Given the description of an element on the screen output the (x, y) to click on. 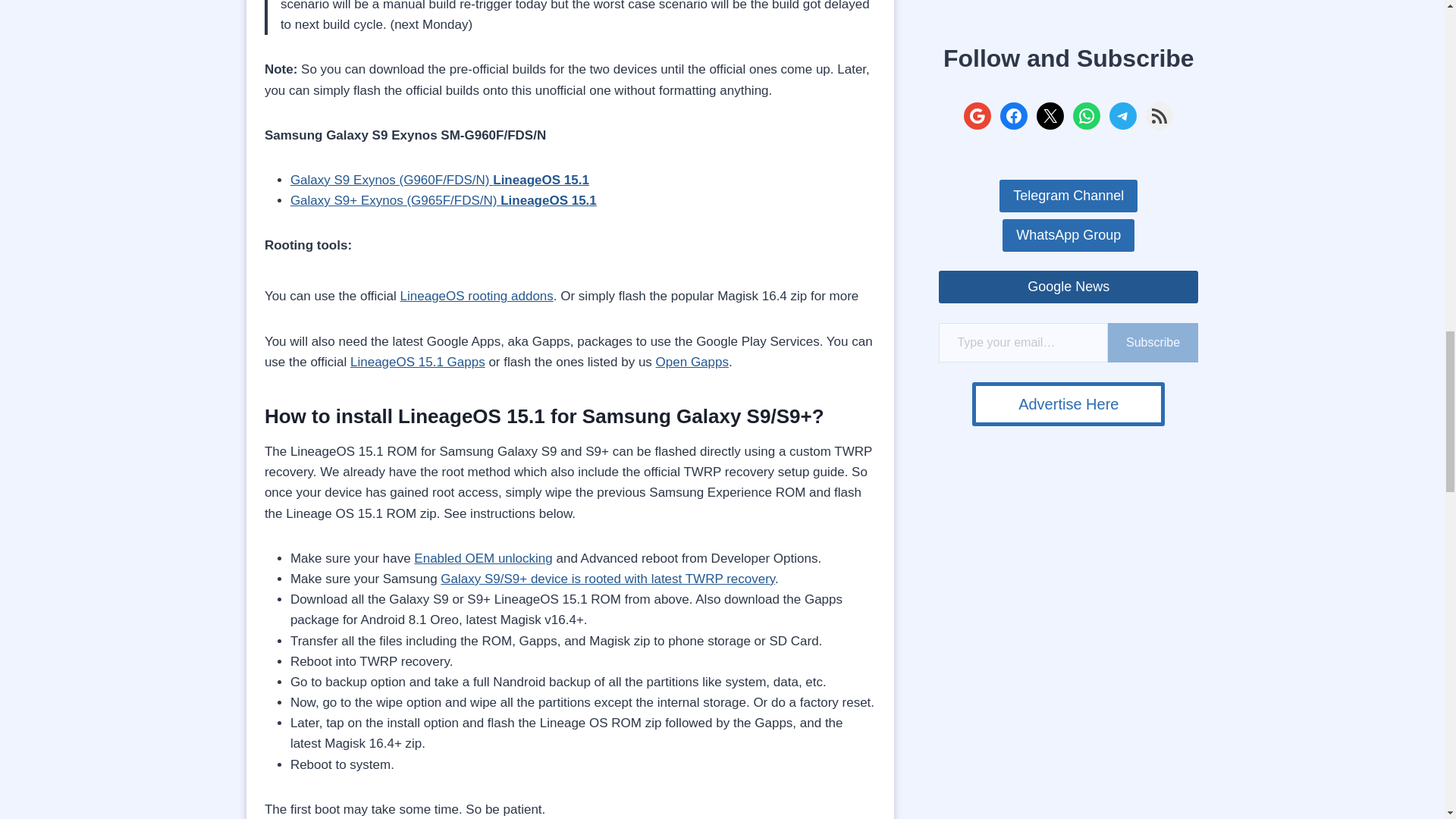
Open Gapps (692, 361)
LineageOS 15.1 Gapps (417, 361)
Enabled OEM unlocking (482, 558)
LineageOS rooting addons (476, 296)
